Given the description of an element on the screen output the (x, y) to click on. 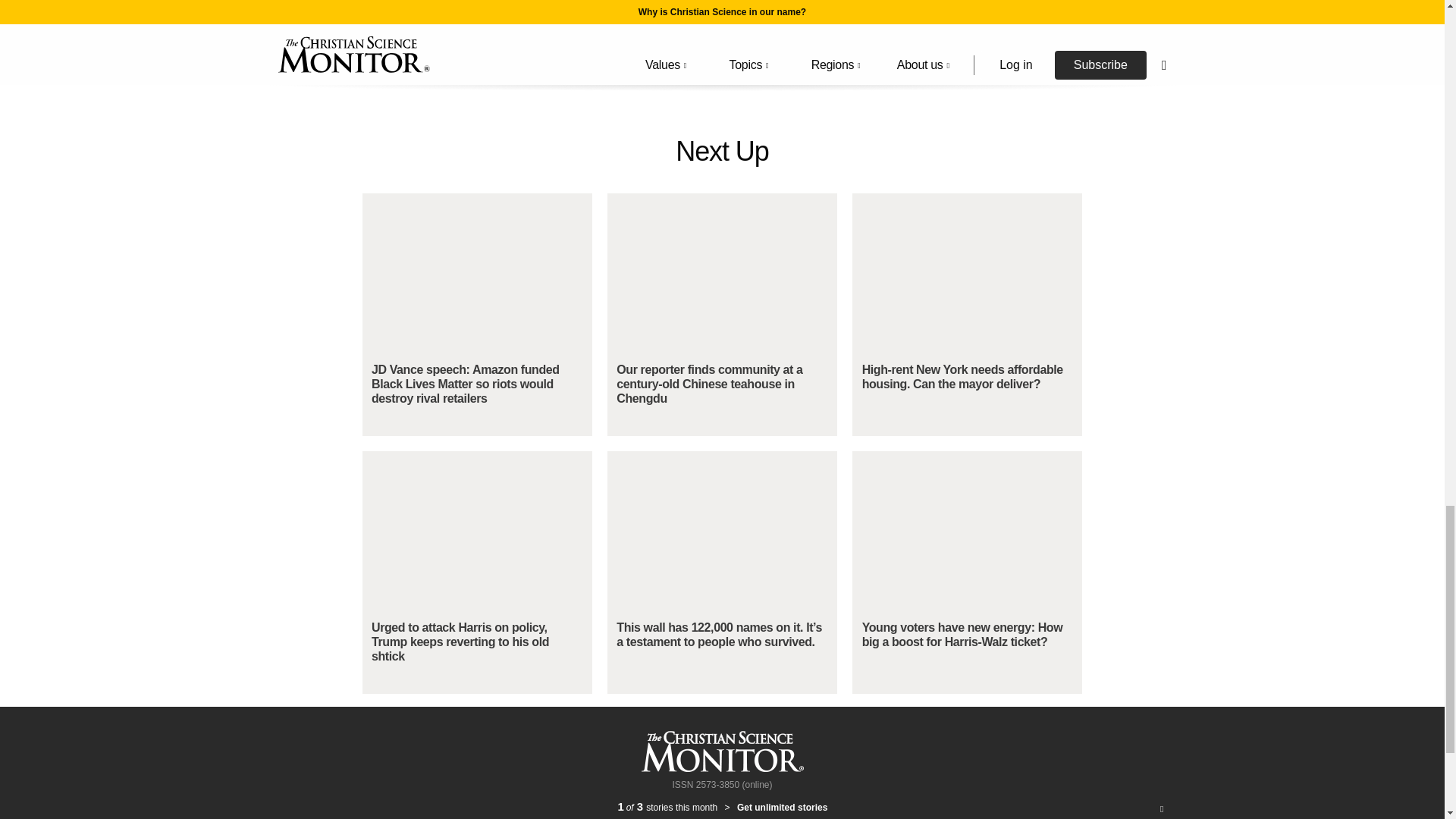
share this story on facebook (637, 38)
share this story on twitter (694, 38)
share this story with email (749, 38)
